Given the description of an element on the screen output the (x, y) to click on. 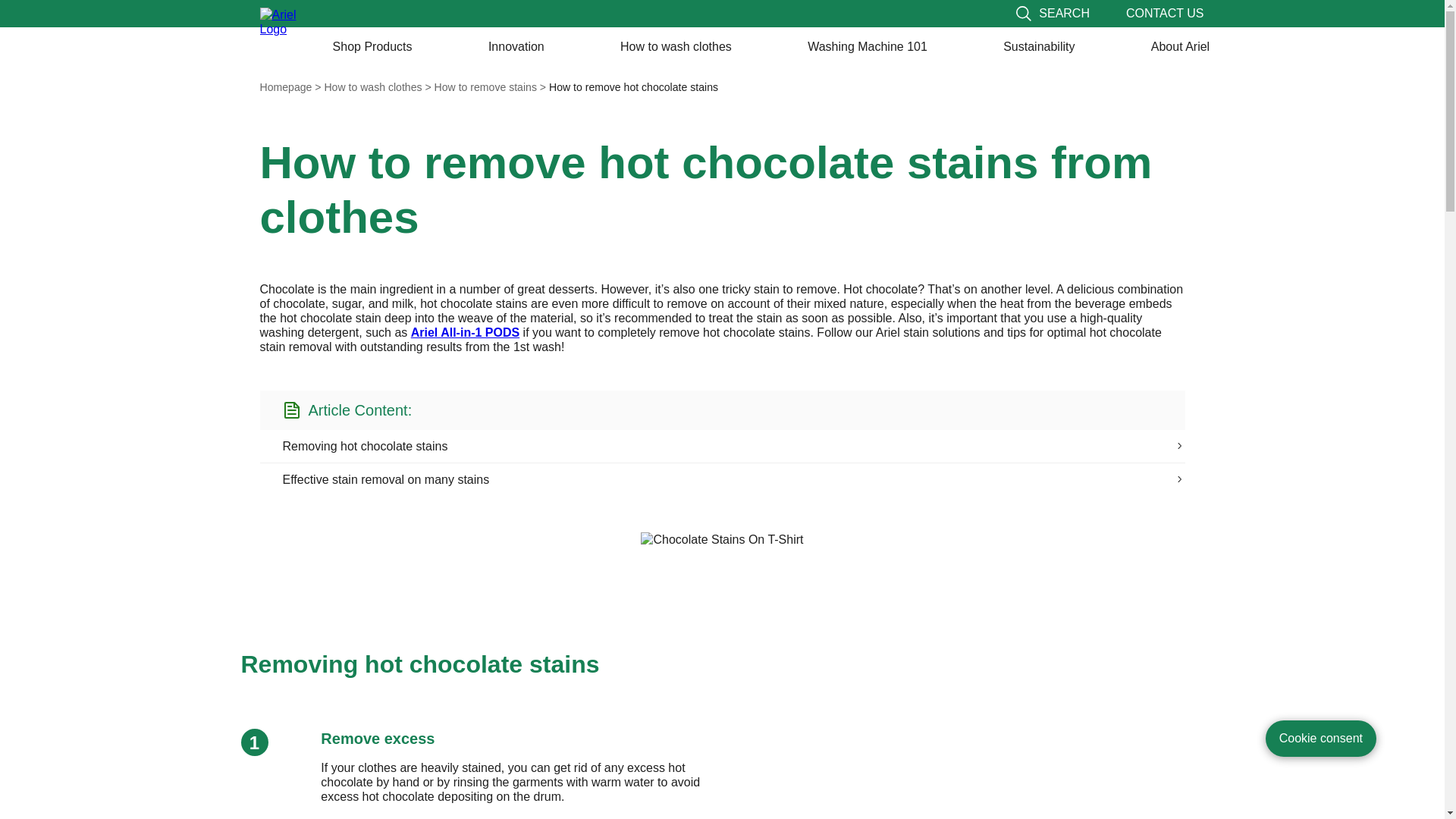
Innovation (515, 47)
How to wash clothes (676, 47)
Shop Products (372, 47)
Washing Machine 101 (867, 47)
